Given the description of an element on the screen output the (x, y) to click on. 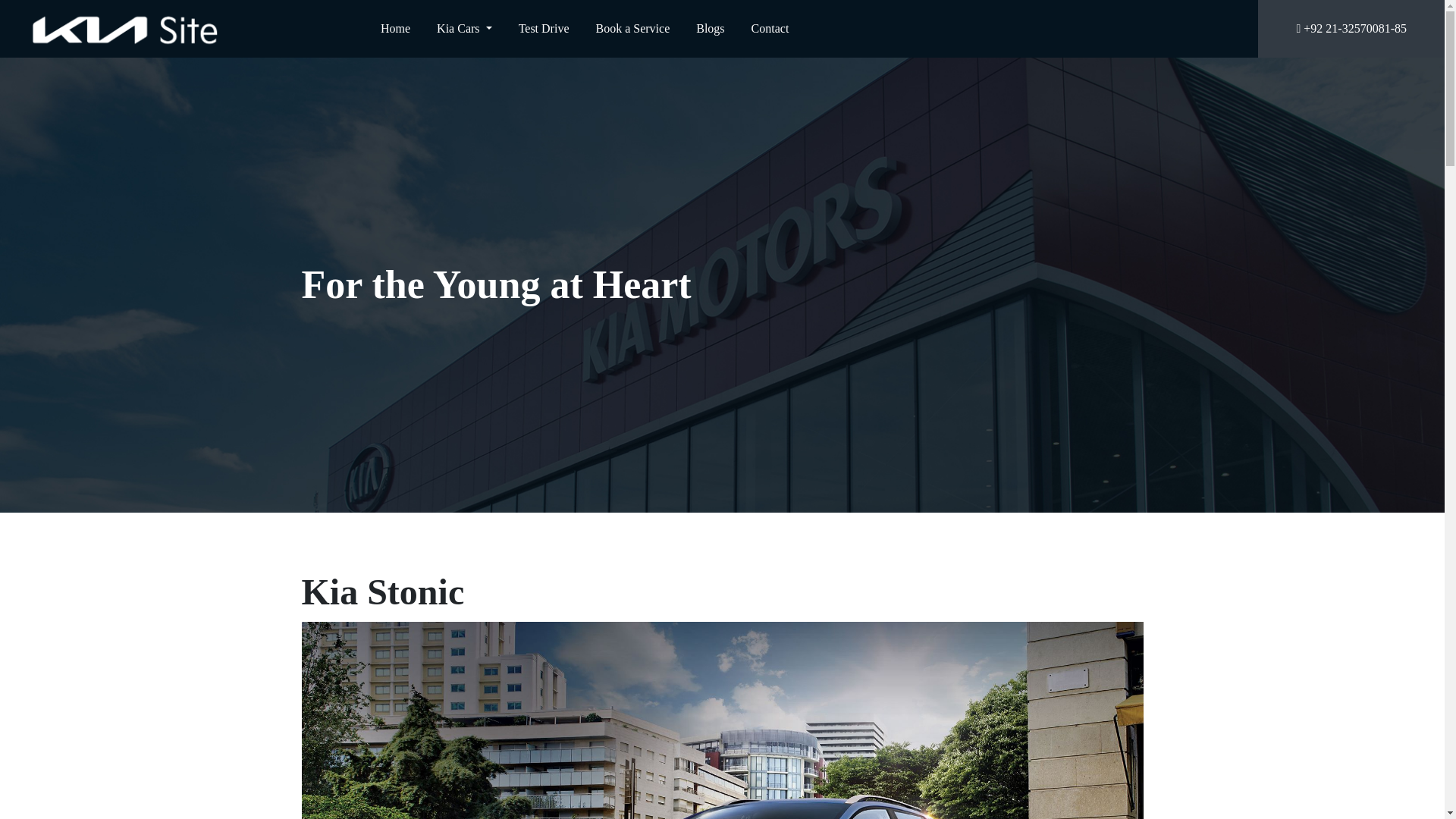
Home (395, 28)
Book a Service (632, 28)
Test Drive (543, 28)
Blogs (709, 28)
Contact (770, 28)
Kia Cars (464, 28)
